Given the description of an element on the screen output the (x, y) to click on. 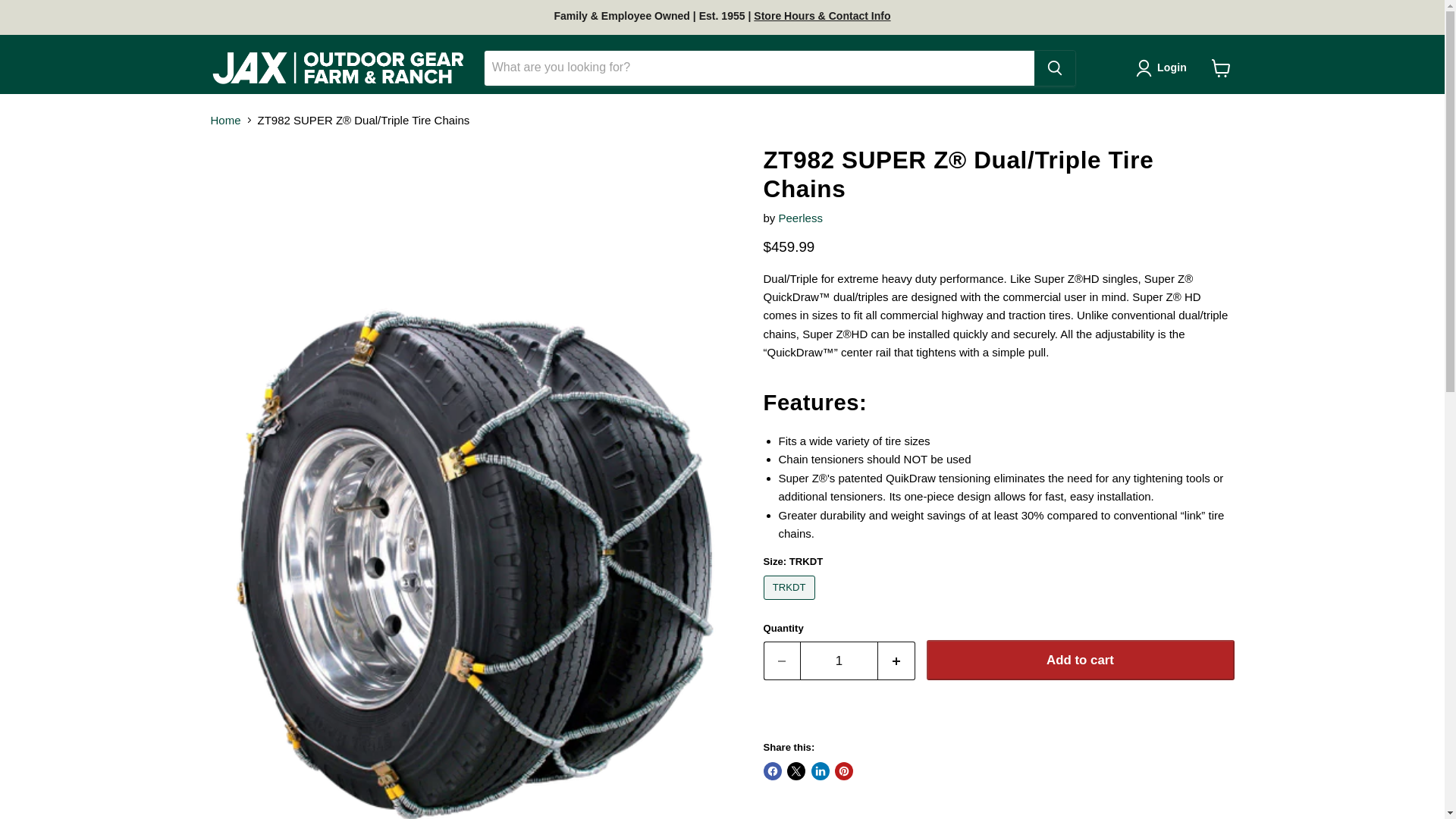
Home (226, 119)
Share on Facebook (771, 771)
View cart (1221, 68)
1 (838, 660)
Share on LinkedIn (819, 771)
Peerless (800, 217)
Login (1163, 67)
Pin on Pinterest (843, 771)
Add to cart (1080, 659)
Share on X (796, 771)
